Given the description of an element on the screen output the (x, y) to click on. 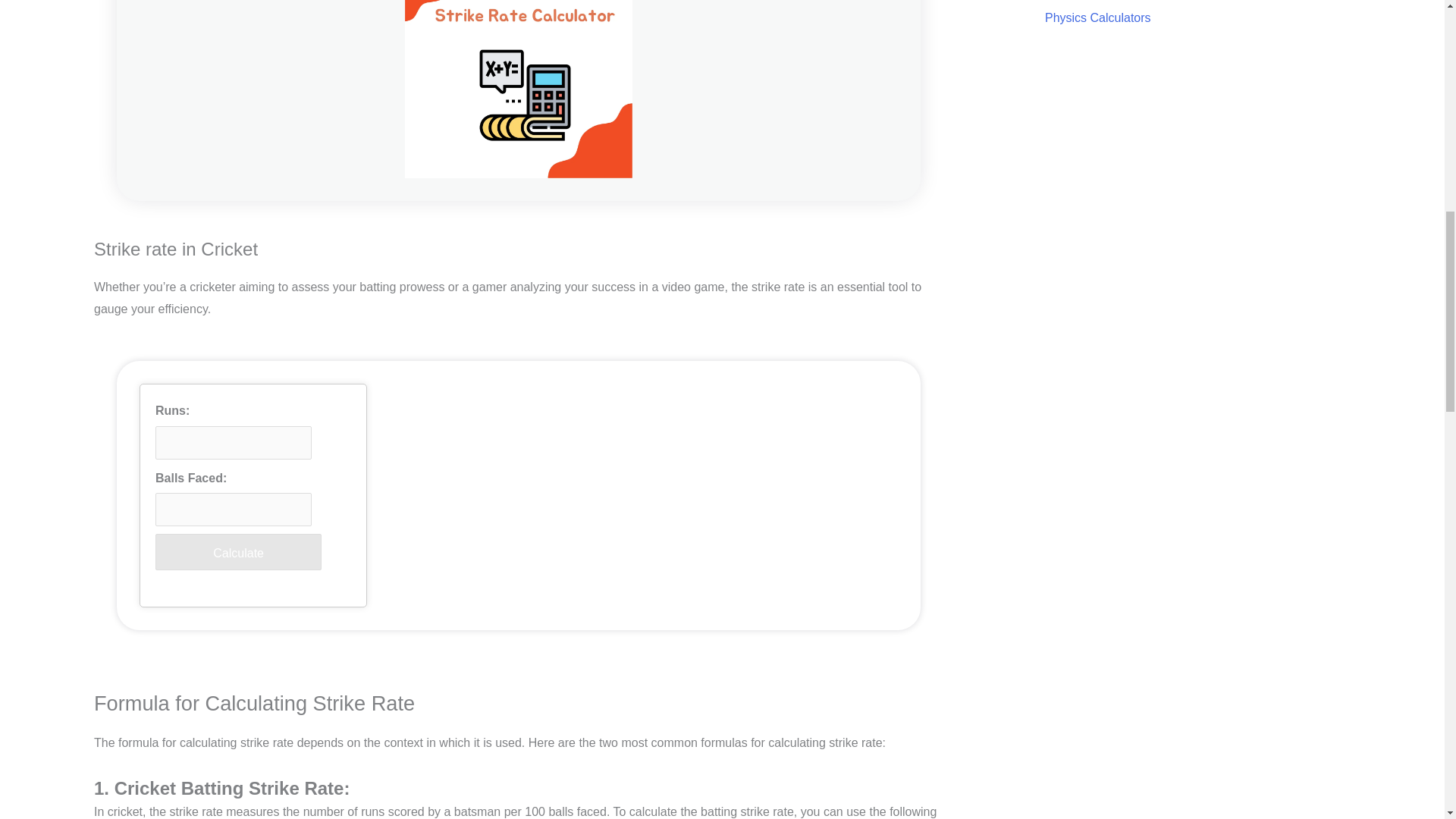
Physics Calculators (1098, 17)
Other Calculators (1092, 0)
Calculate (238, 551)
